Given the description of an element on the screen output the (x, y) to click on. 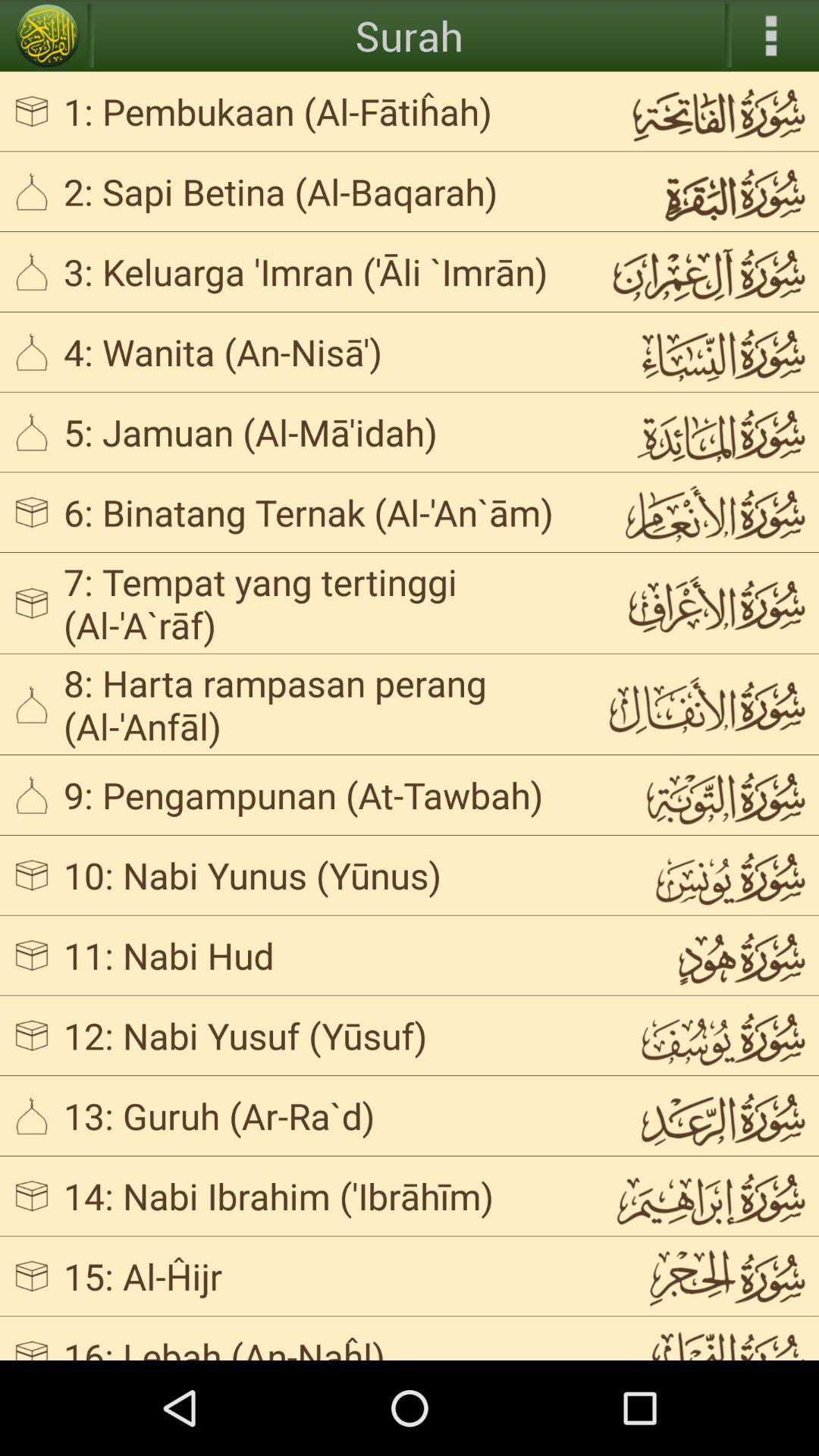
launch the 4 wanita an (322, 351)
